Given the description of an element on the screen output the (x, y) to click on. 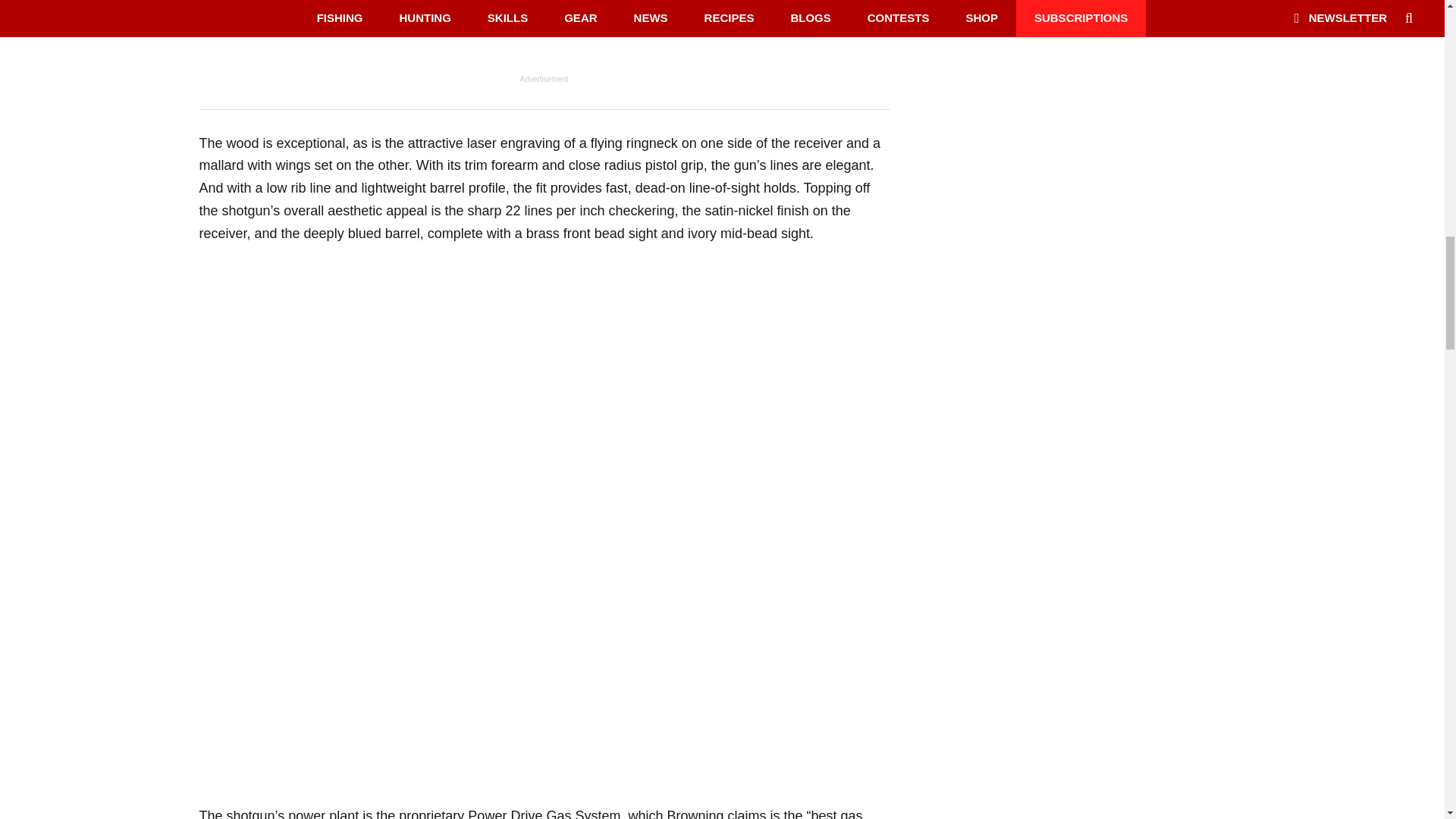
3rd party ad content (544, 36)
